Given the description of an element on the screen output the (x, y) to click on. 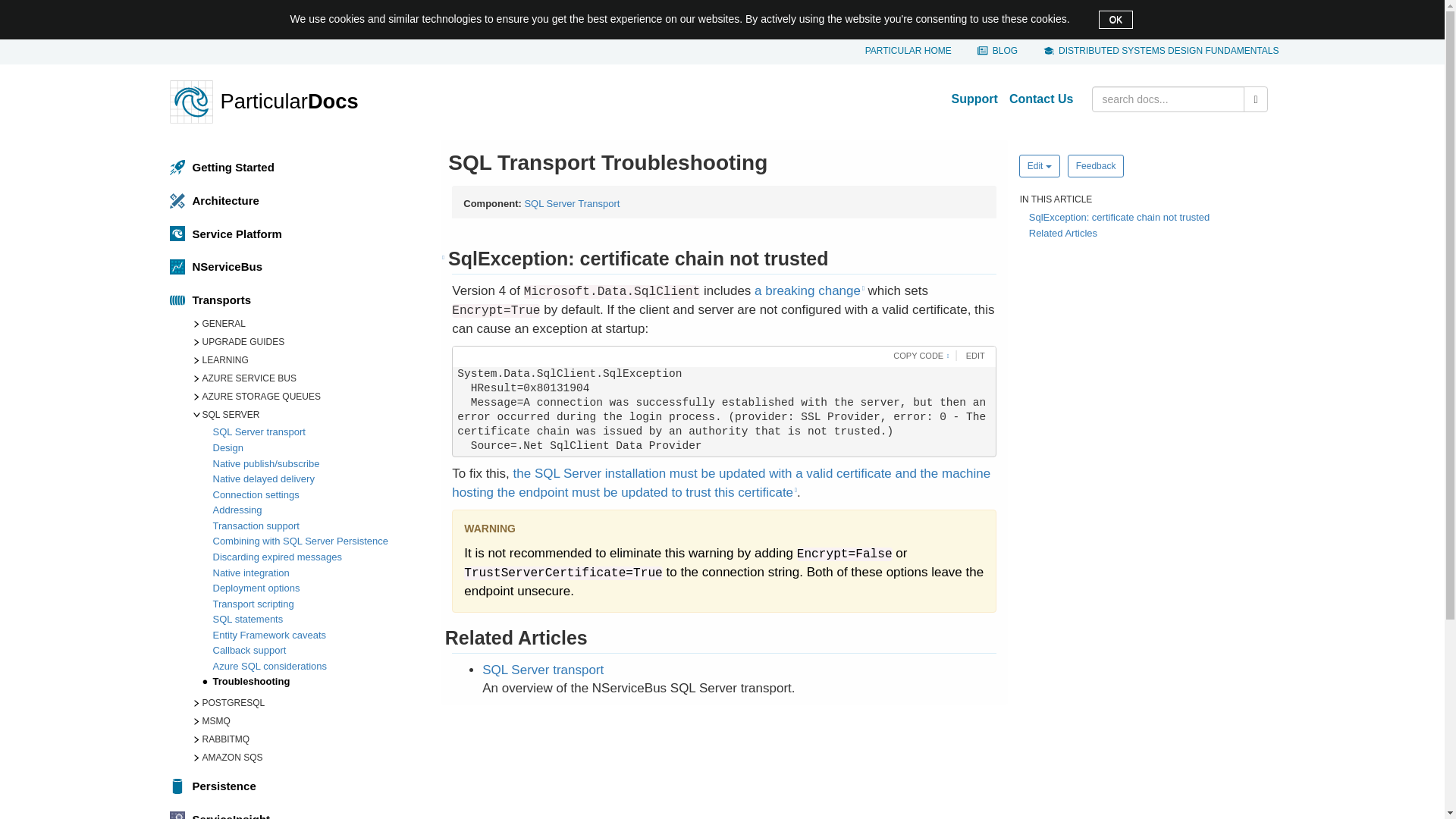
Callback support (319, 651)
Design (319, 449)
Copy snippet to the clipboard (917, 355)
Azure SQL considerations (319, 667)
Support (976, 98)
SQL Server transport (319, 433)
Discarding expired messages (319, 558)
DISTRIBUTED SYSTEMS DESIGN FUNDAMENTALS (1160, 50)
Entity Framework caveats (319, 636)
Connection settings (319, 496)
Combining with SQL Server Persistence (319, 542)
Contact Us (1043, 98)
SQL statements (319, 620)
Transaction support (319, 527)
Native integration (319, 574)
